Given the description of an element on the screen output the (x, y) to click on. 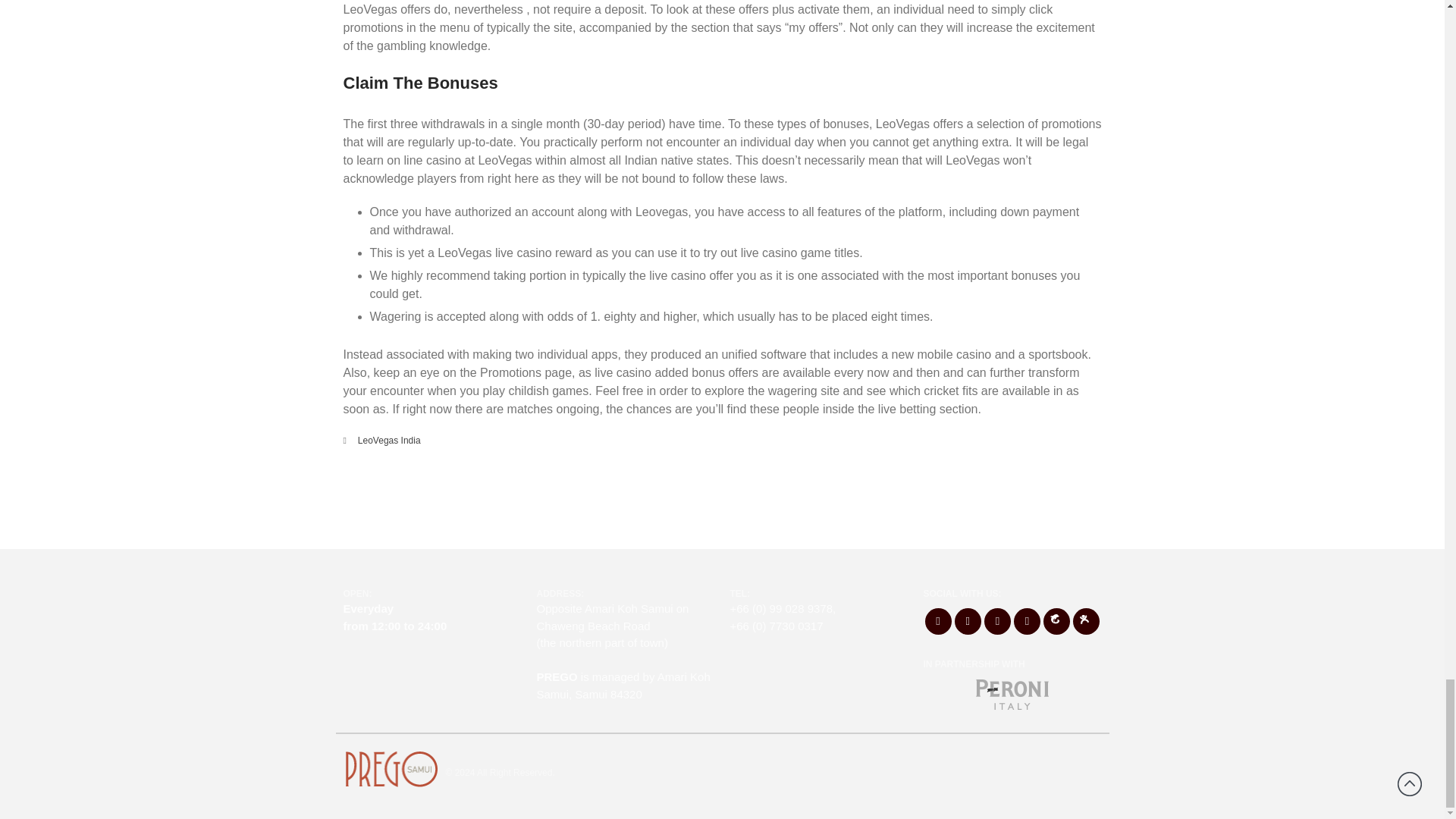
View all posts in LeoVegas India (389, 439)
